Given the description of an element on the screen output the (x, y) to click on. 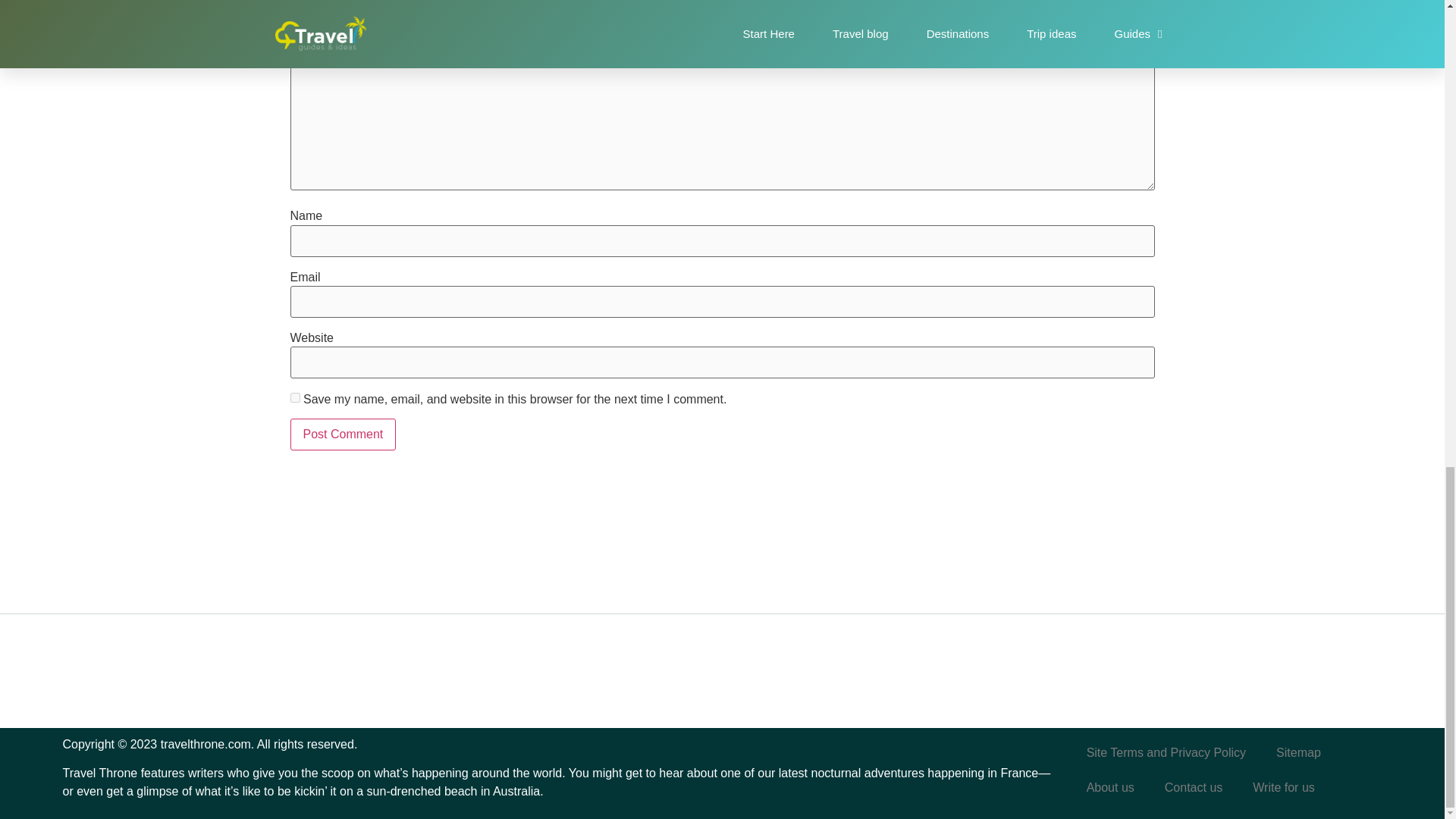
Site Terms and Privacy Policy (1165, 752)
Sitemap (1298, 752)
Contact us (1193, 787)
Post Comment (342, 434)
About us (1110, 787)
Post Comment (342, 434)
Write for us (1283, 787)
yes (294, 397)
